Given the description of an element on the screen output the (x, y) to click on. 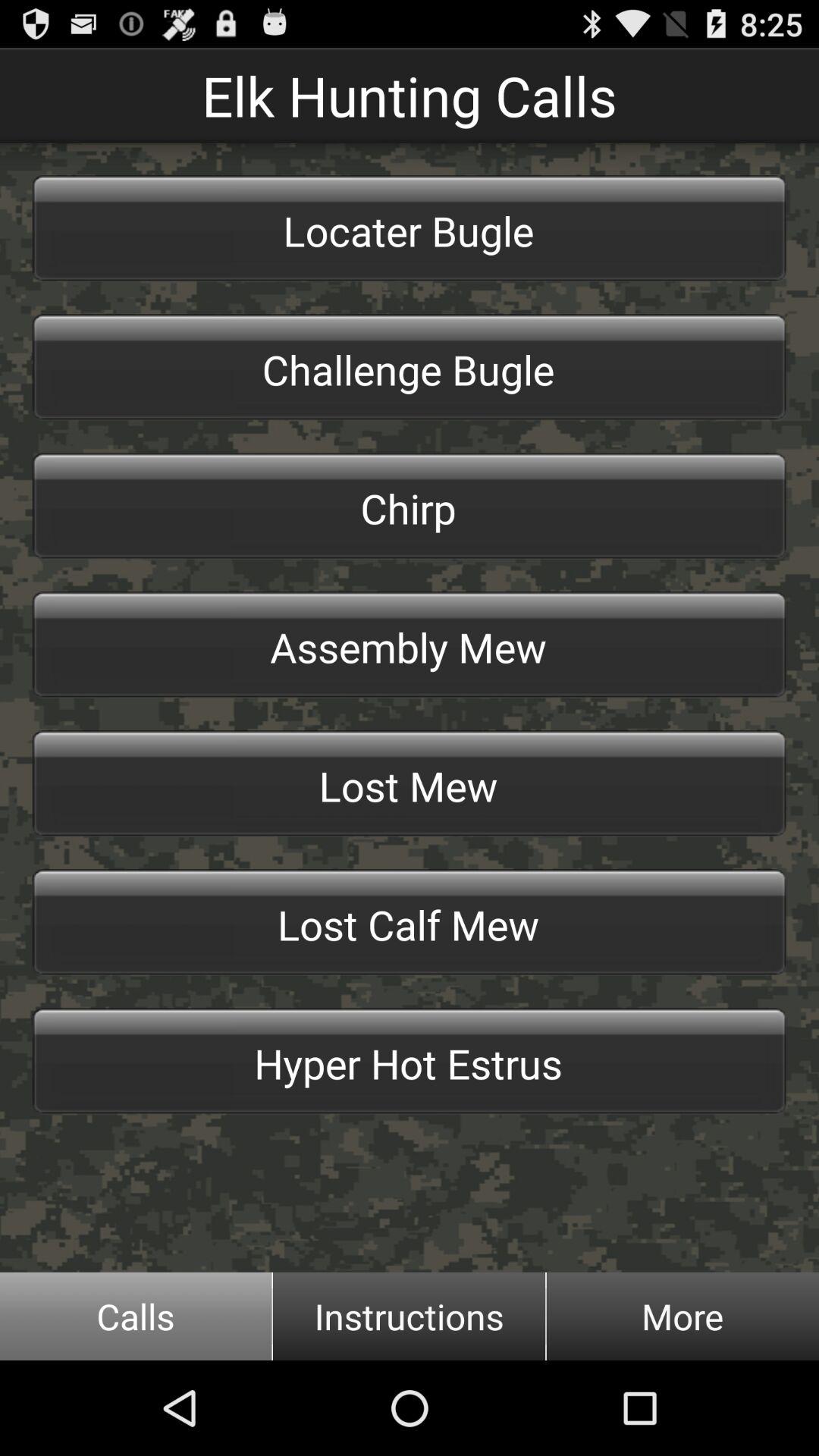
click the locater bugle item (409, 228)
